Given the description of an element on the screen output the (x, y) to click on. 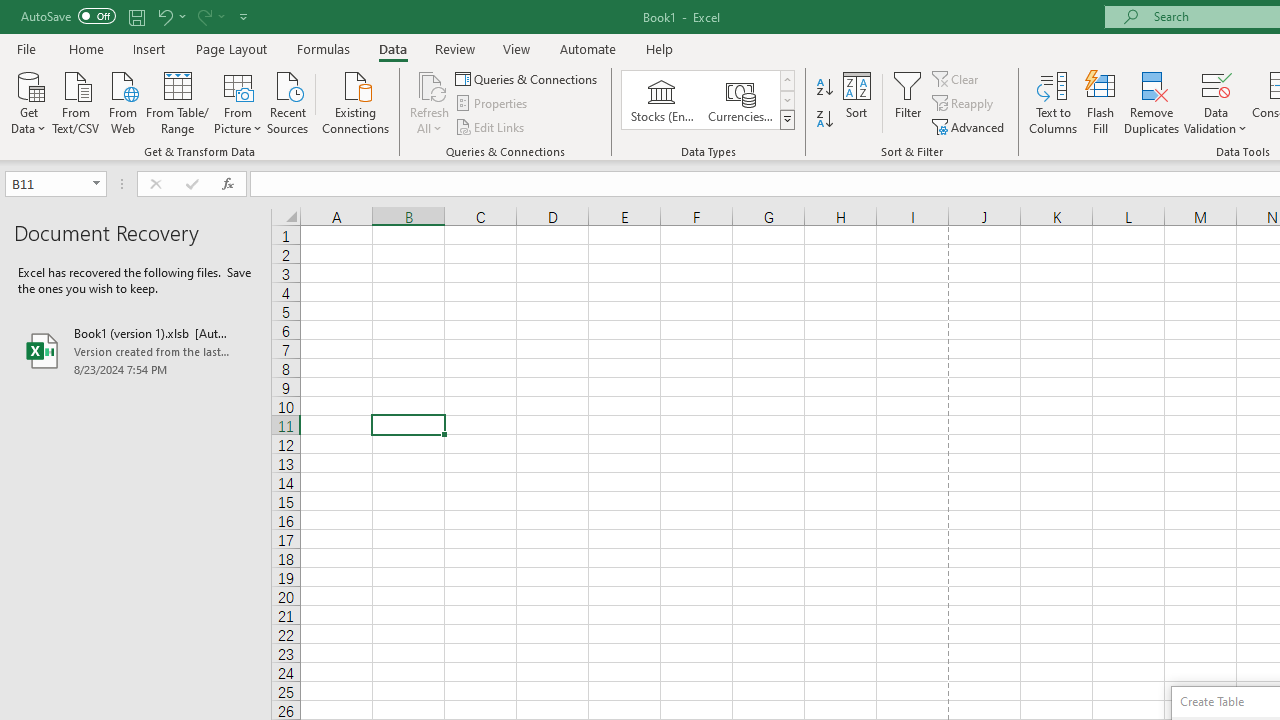
From Table/Range (177, 101)
Text to Columns... (1053, 102)
From Web (122, 101)
Advanced... (970, 126)
From Text/CSV (75, 101)
Queries & Connections (527, 78)
Get Data (28, 101)
